Given the description of an element on the screen output the (x, y) to click on. 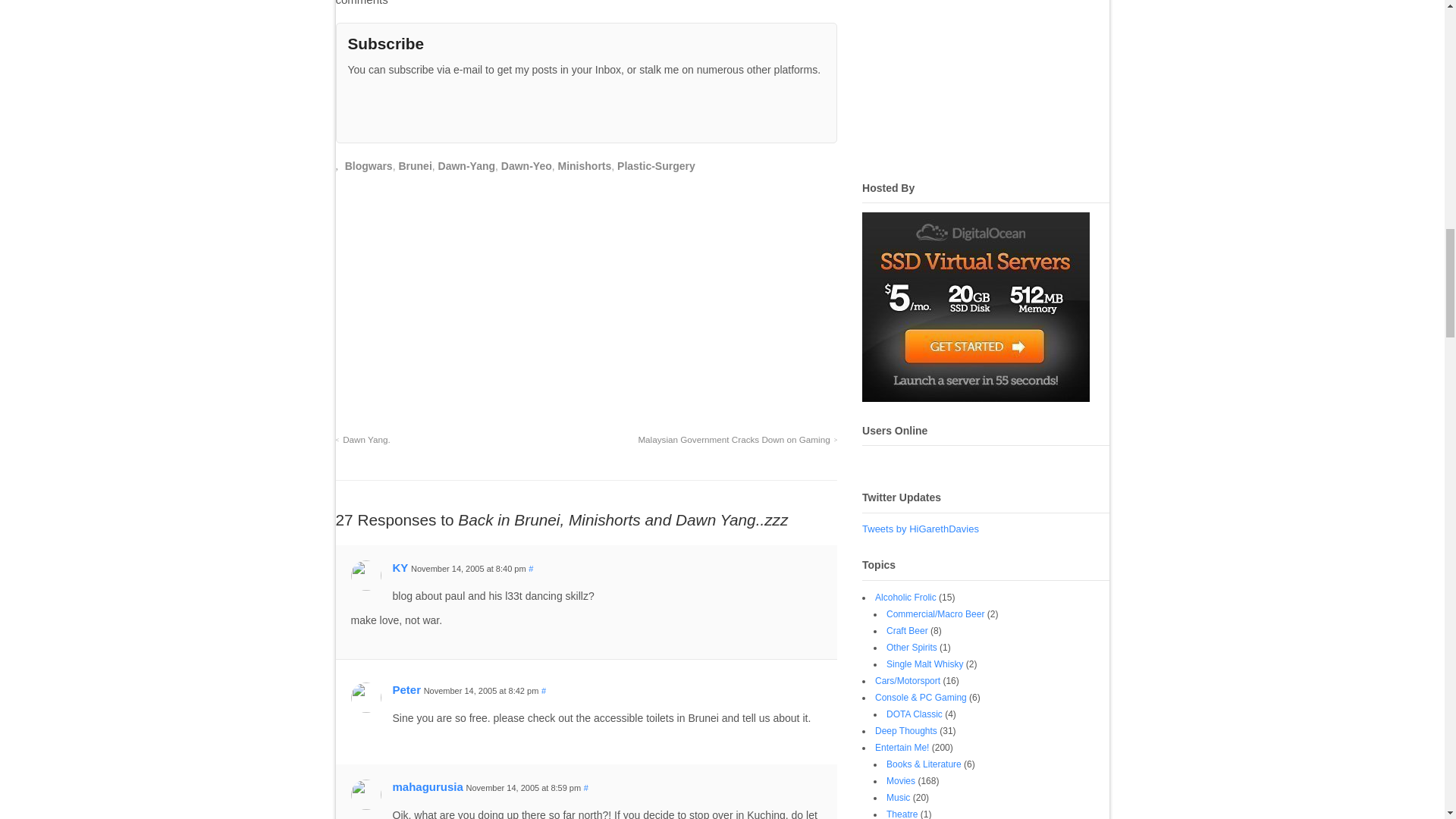
Blogwars (369, 165)
Twitter (384, 115)
RSS (358, 115)
Facebook (410, 115)
